Given the description of an element on the screen output the (x, y) to click on. 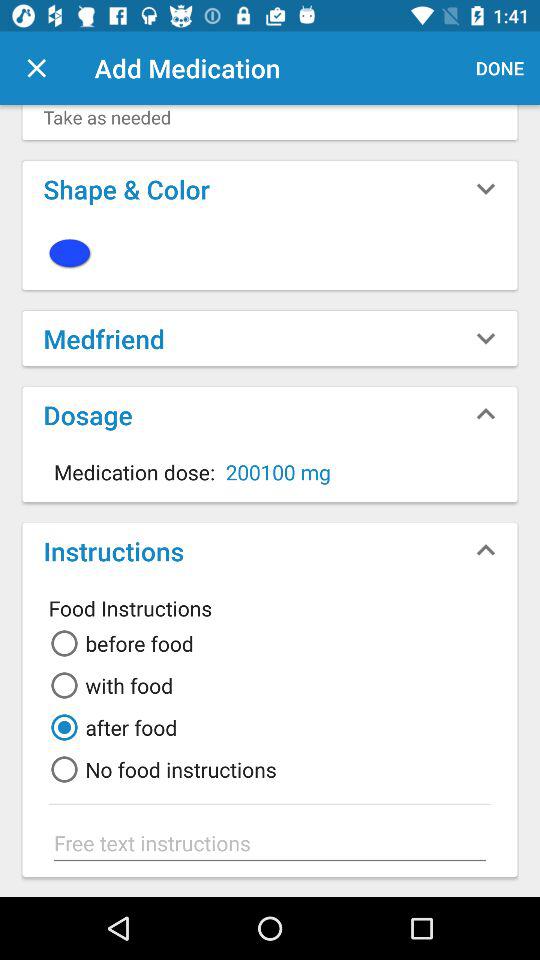
add text for instructions not listed above (269, 843)
